Given the description of an element on the screen output the (x, y) to click on. 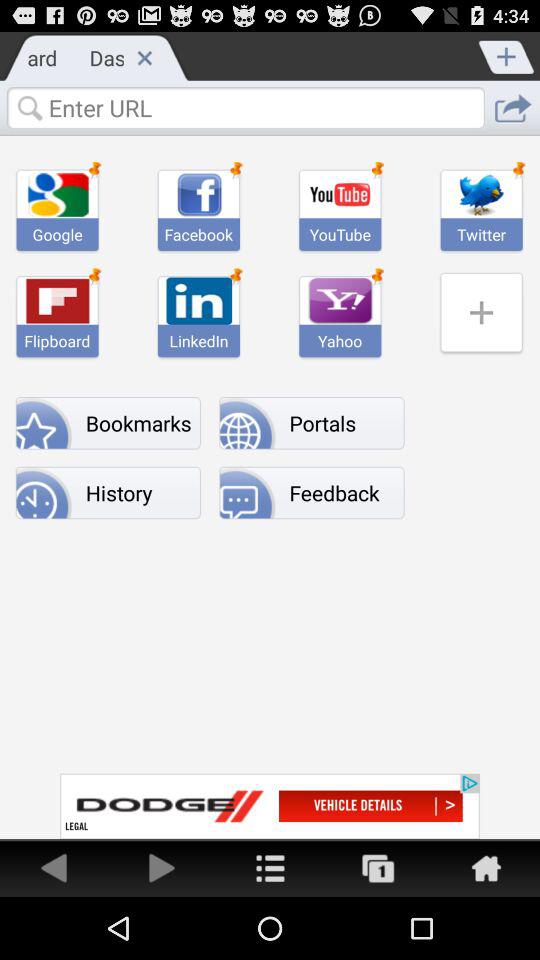
go to the homepage (486, 867)
